Given the description of an element on the screen output the (x, y) to click on. 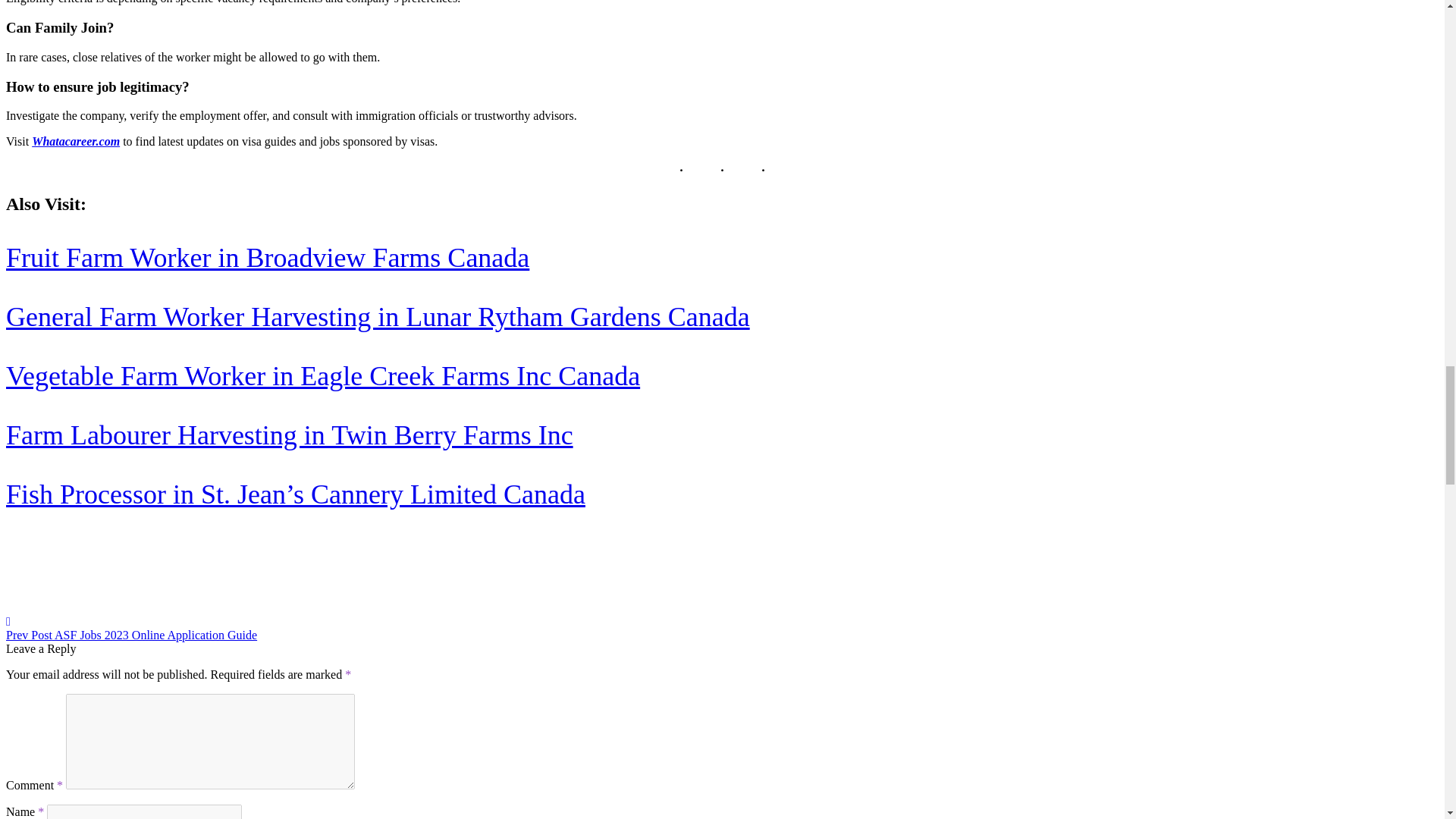
Vegetable Farm Worker in Eagle Creek Farms Inc Canada (322, 376)
Farm Labourer Harvesting in Twin Berry Farms Inc (289, 435)
Whatacareer.com (75, 141)
Fruit Farm Worker in Broadview Farms Canada (267, 257)
